Given the description of an element on the screen output the (x, y) to click on. 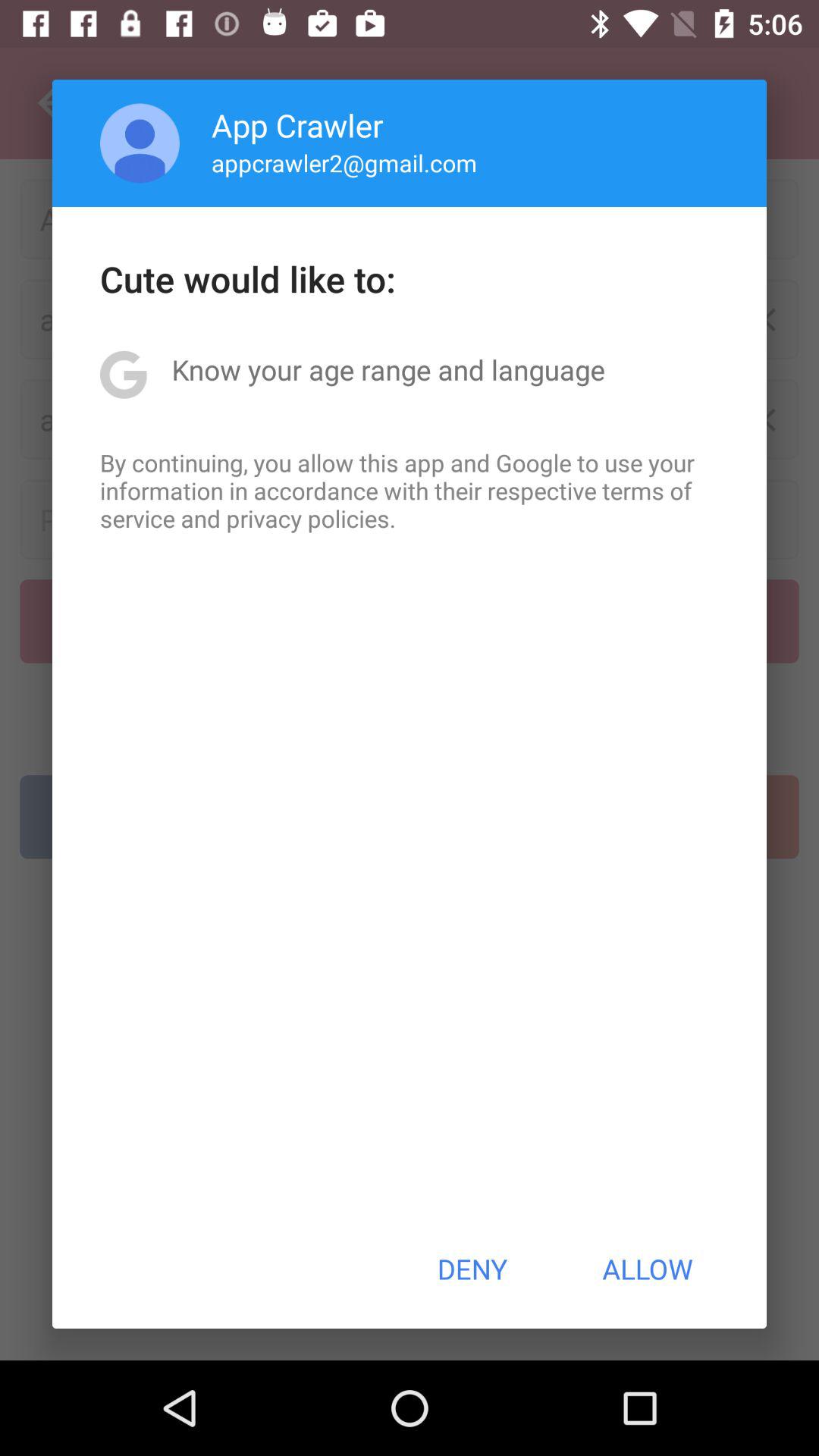
turn on know your age icon (388, 369)
